Given the description of an element on the screen output the (x, y) to click on. 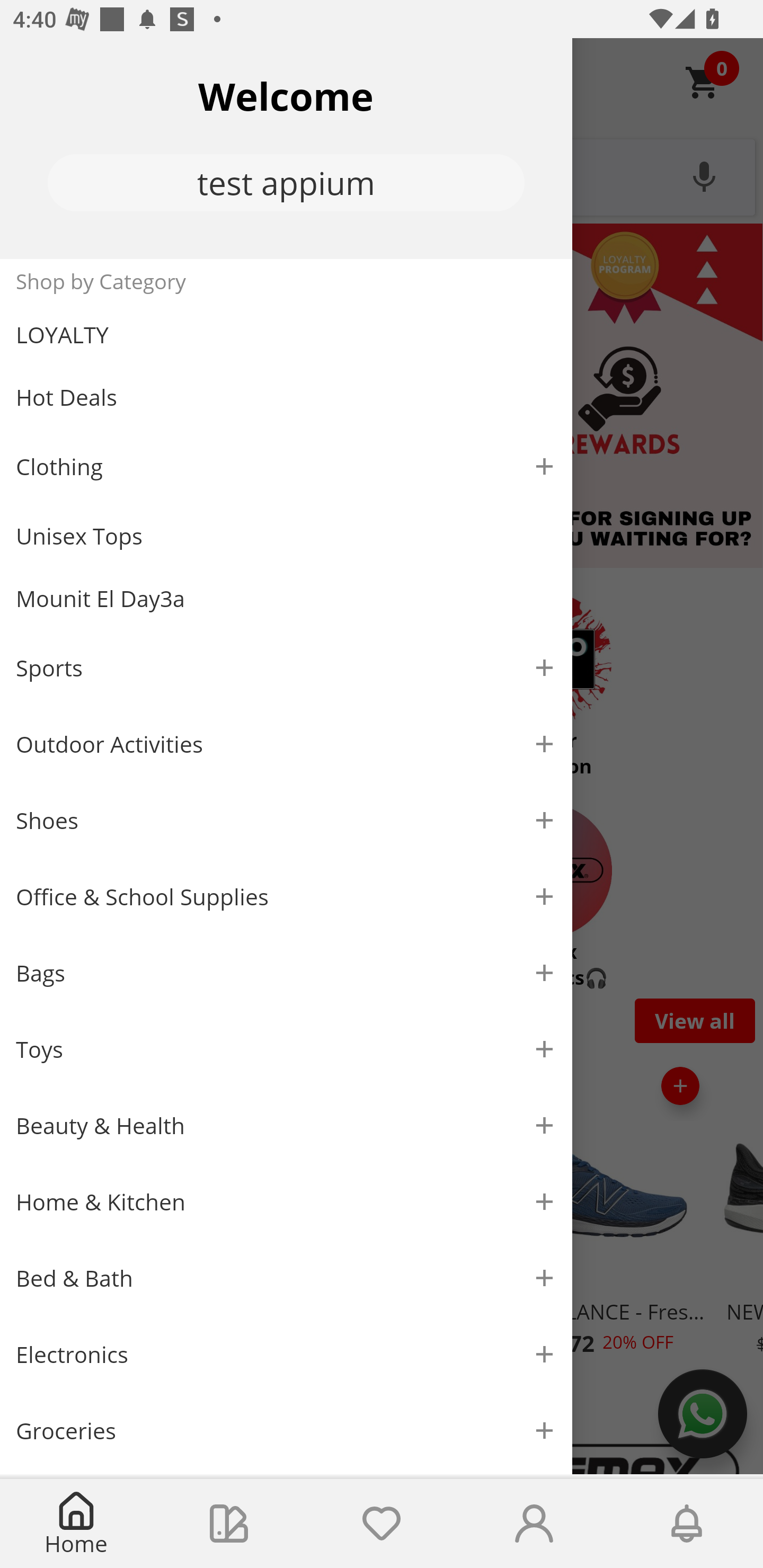
Welcome test appium (286, 147)
What are you looking for? (381, 175)
LOYALTY (286, 334)
Hot Deals (286, 396)
Clothing (286, 466)
Unisex Tops (286, 535)
Mounit El Day3a (286, 598)
Sports (286, 667)
Outdoor Activities (286, 743)
Shoes (286, 820)
Office & School Supplies (286, 896)
Bags (286, 972)
Toys (286, 1049)
Beauty & Health (286, 1125)
Home & Kitchen (286, 1201)
Bed & Bath (286, 1278)
Electronics (286, 1354)
Groceries (286, 1430)
Collections (228, 1523)
Wishlist (381, 1523)
Account (533, 1523)
Notifications (686, 1523)
